Given the description of an element on the screen output the (x, y) to click on. 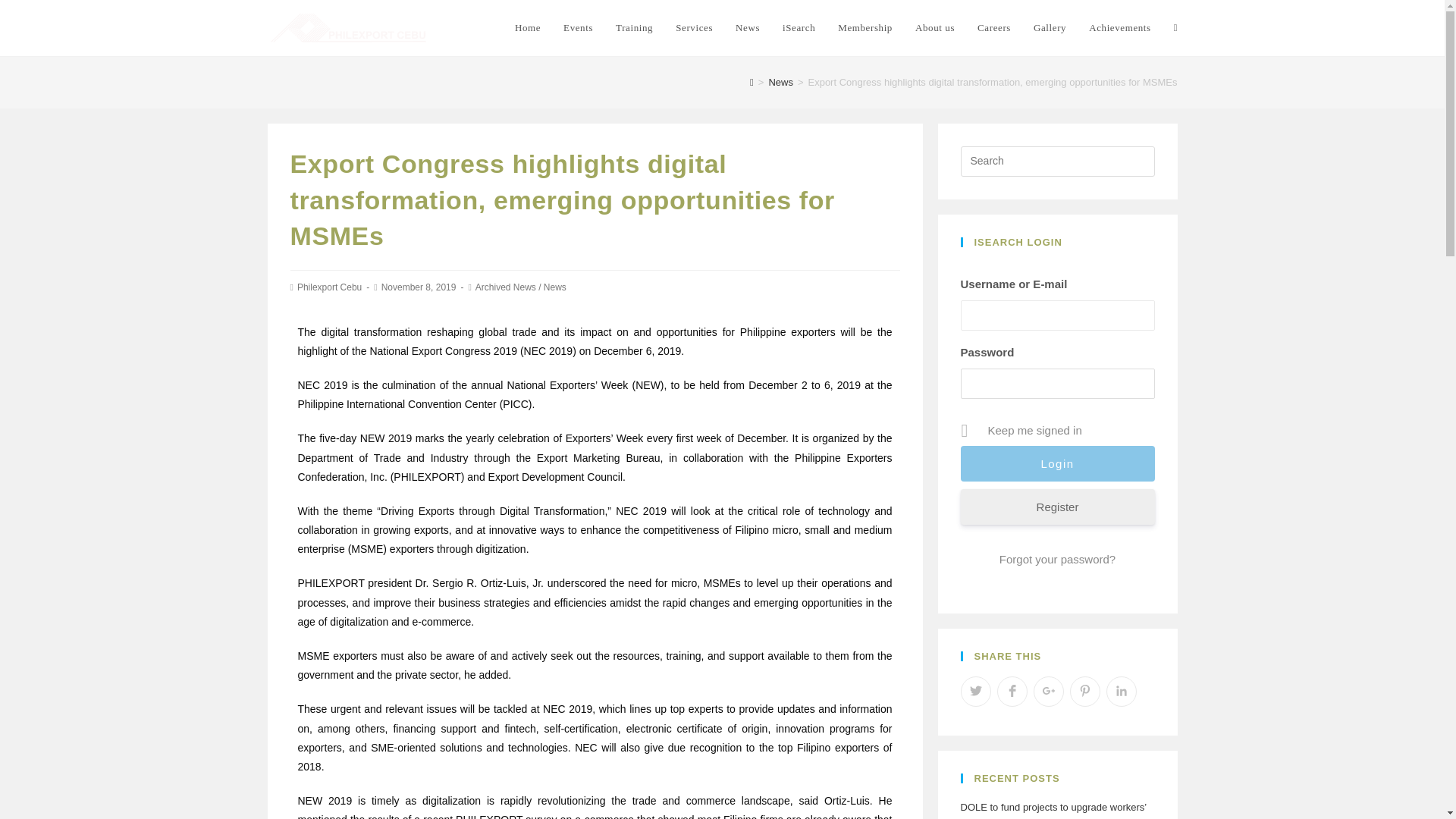
Events (577, 28)
Training (633, 28)
Posts by Philexport Cebu (329, 286)
Share on Pinterest (1083, 691)
Share on Facebook (1010, 691)
Services (693, 28)
iSearch (799, 28)
Share on Twitter (974, 691)
Share on LinkedIn (1120, 691)
Login (1056, 463)
